Given the description of an element on the screen output the (x, y) to click on. 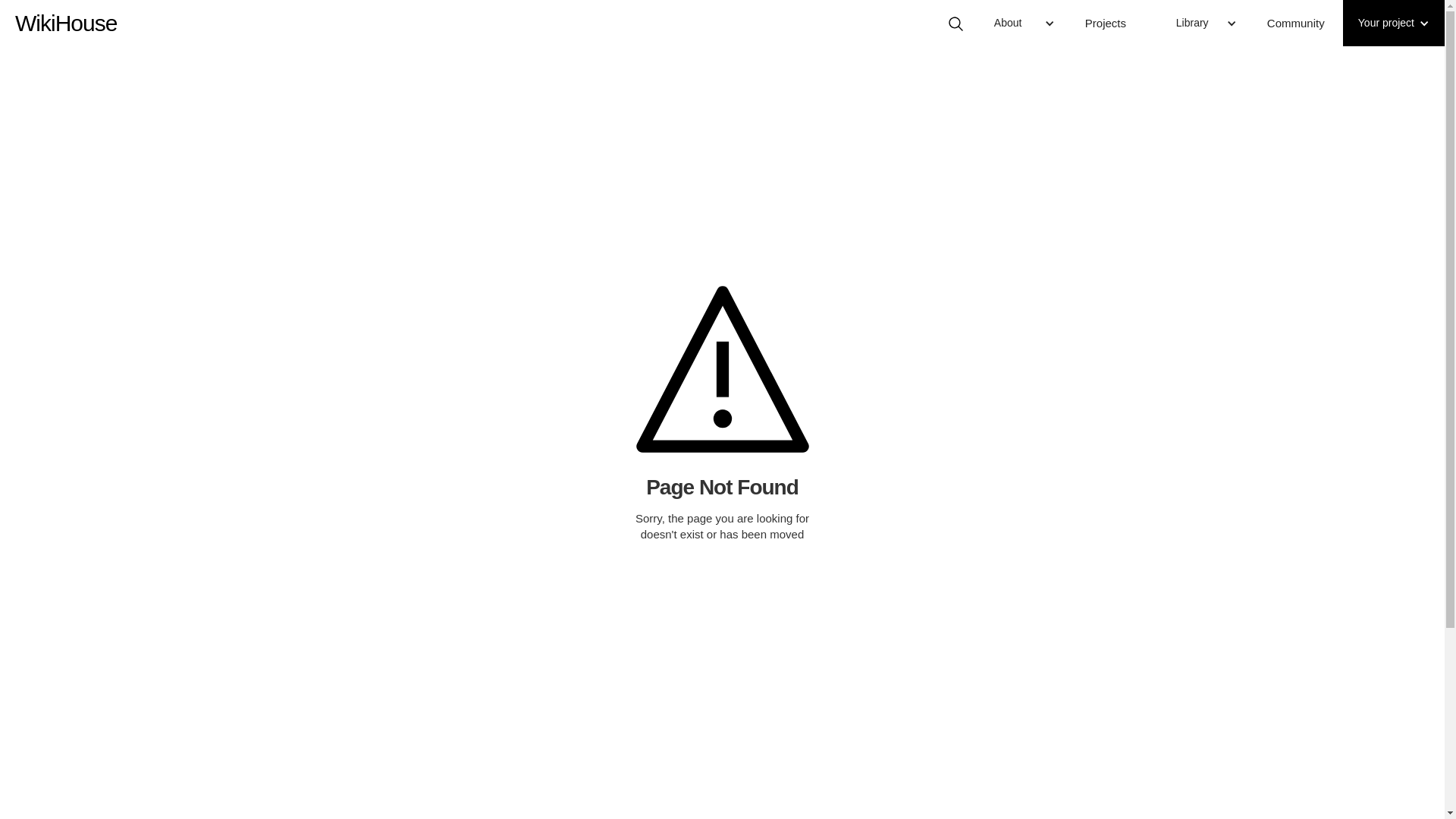
Projects Element type: text (1115, 23)
Community Element type: text (1297, 23)
WikiHouse Element type: text (65, 15)
